Given the description of an element on the screen output the (x, y) to click on. 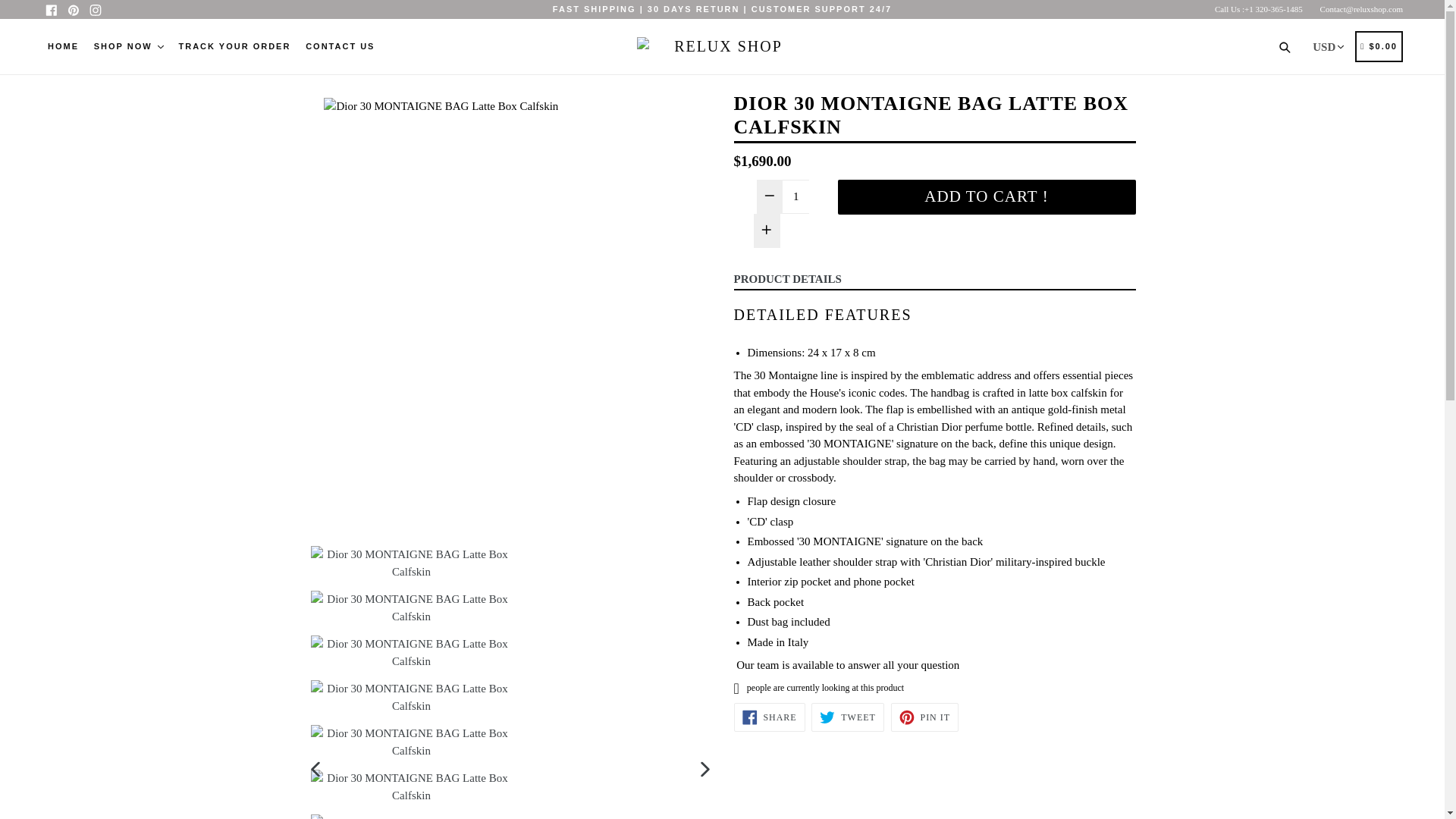
Relux Shop on Instagram (94, 9)
Relux Shop on Facebook (51, 9)
Tweet on Twitter (846, 717)
Share on Facebook (769, 717)
Pin on Pinterest (924, 717)
Relux Shop on Pinterest (73, 9)
